Given the description of an element on the screen output the (x, y) to click on. 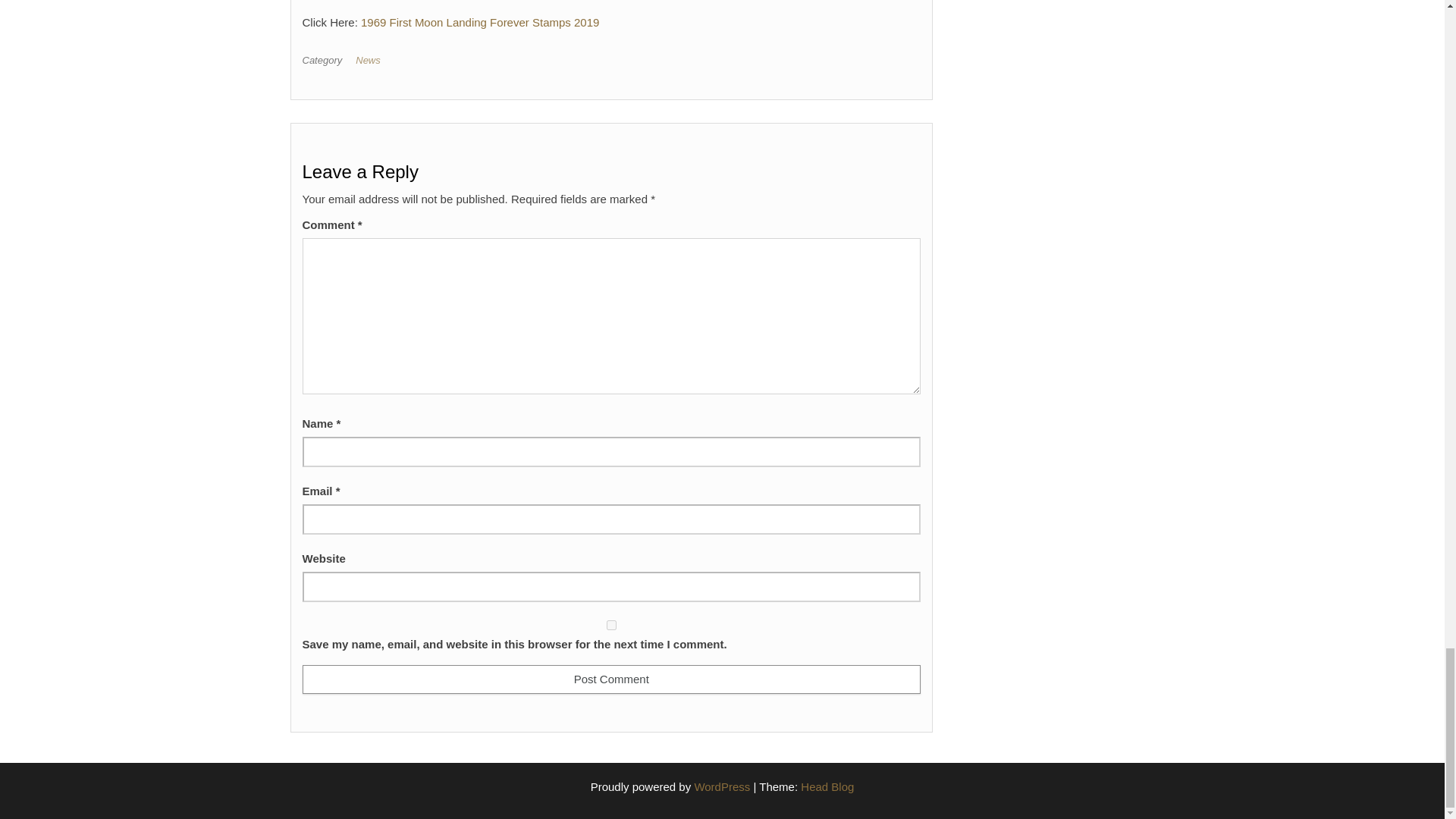
1969 First Moon Landing Forever Stamps 2019 (479, 21)
News (371, 60)
yes (610, 624)
Post Comment (610, 679)
Post Comment (610, 679)
1969 First Moon Landing Forever Stamps 2019 (479, 21)
